Given the description of an element on the screen output the (x, y) to click on. 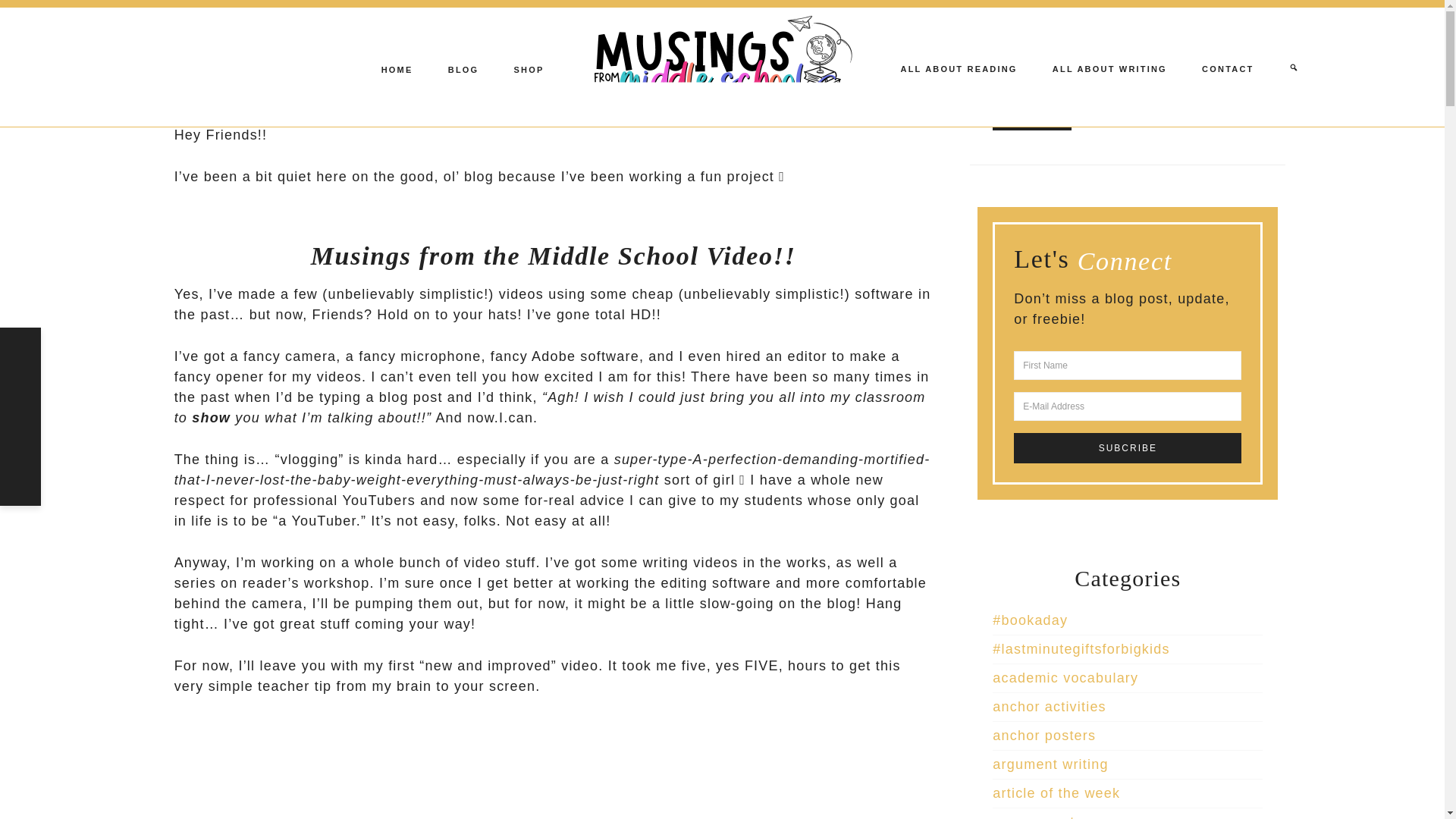
Search (1031, 114)
HOME (397, 69)
CONTACT (1227, 66)
Search (1031, 114)
JWYKS (517, 99)
ALL ABOUT WRITING (1109, 69)
4 COMMENTS (591, 99)
Subcribe (1127, 448)
ALL ABOUT READING (958, 69)
Musing From The Middle School (722, 66)
